Given the description of an element on the screen output the (x, y) to click on. 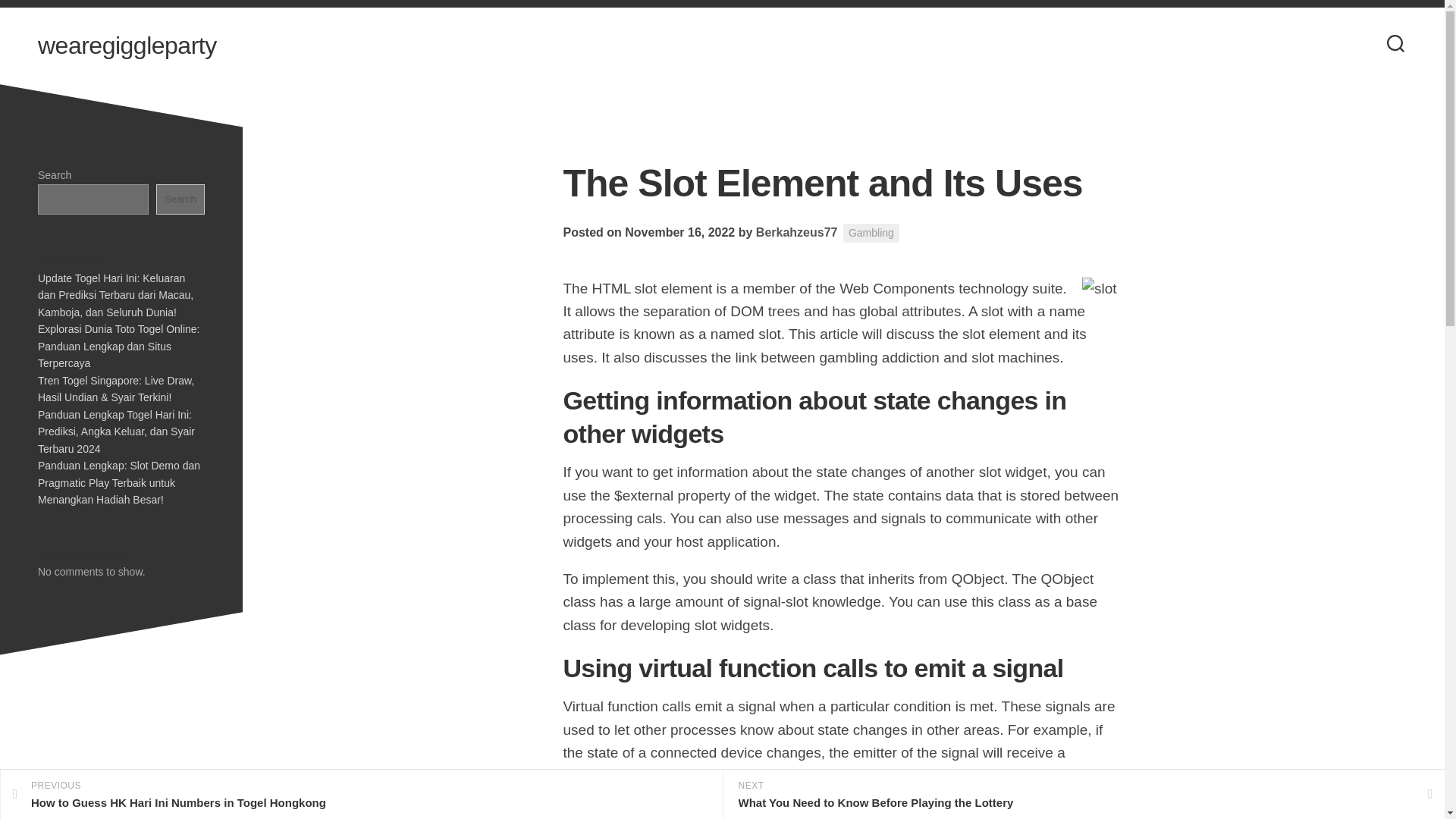
wearegiggleparty (126, 44)
Berkahzeus77 (361, 794)
Search (796, 232)
Posts by Berkahzeus77 (180, 198)
Gambling (796, 232)
